Given the description of an element on the screen output the (x, y) to click on. 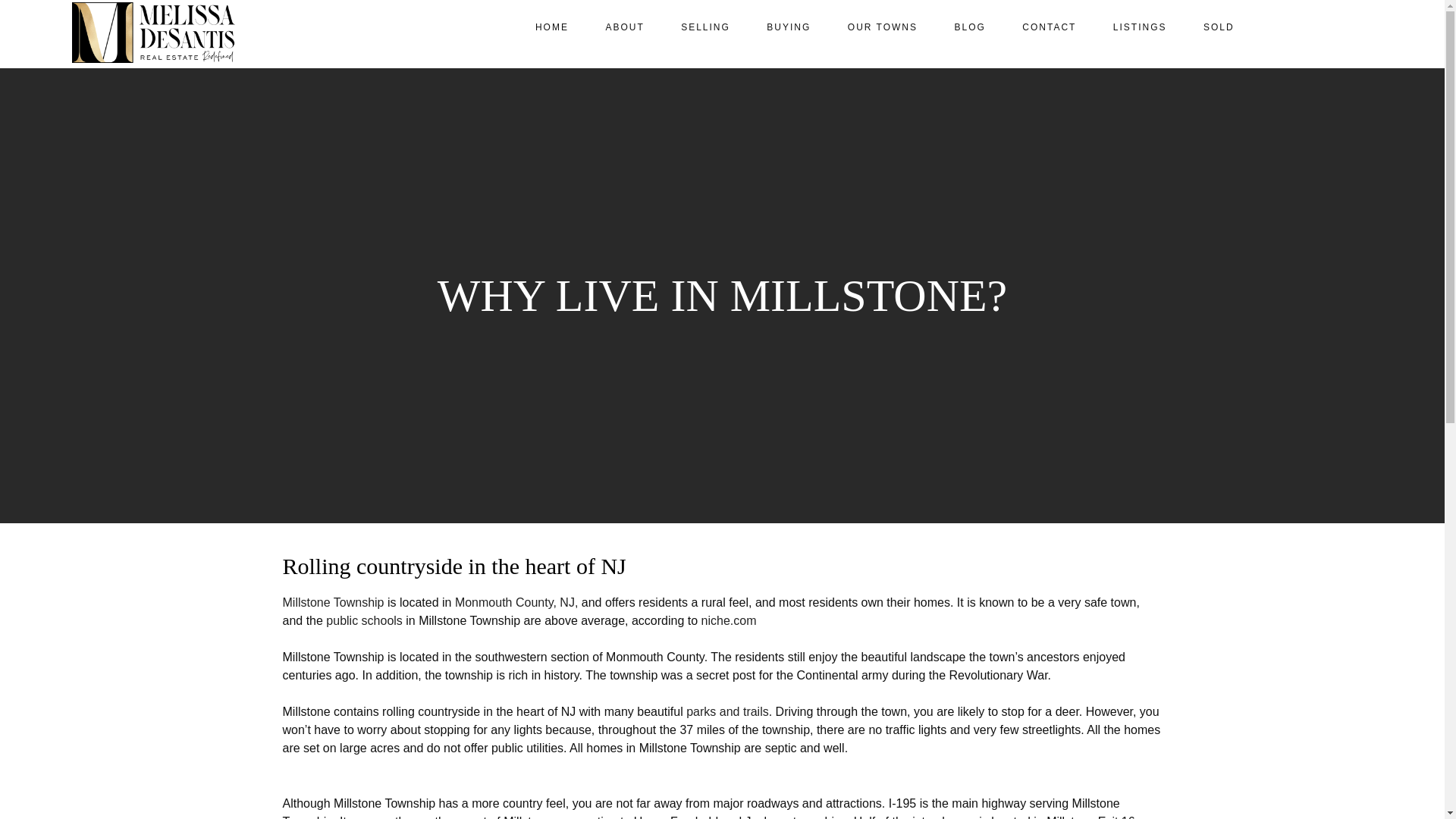
Millstone Township (333, 602)
CONTACT (1049, 26)
SELLING (704, 26)
Monmouth County, NJ, (517, 602)
SOLD (1218, 26)
public schools (364, 620)
MELISSA DESANTIS (152, 32)
HOME (551, 26)
BLOG (969, 26)
OUR TOWNS (882, 26)
BUYING (788, 26)
niche.com (729, 620)
ABOUT (624, 26)
parks and trails (726, 711)
